Given the description of an element on the screen output the (x, y) to click on. 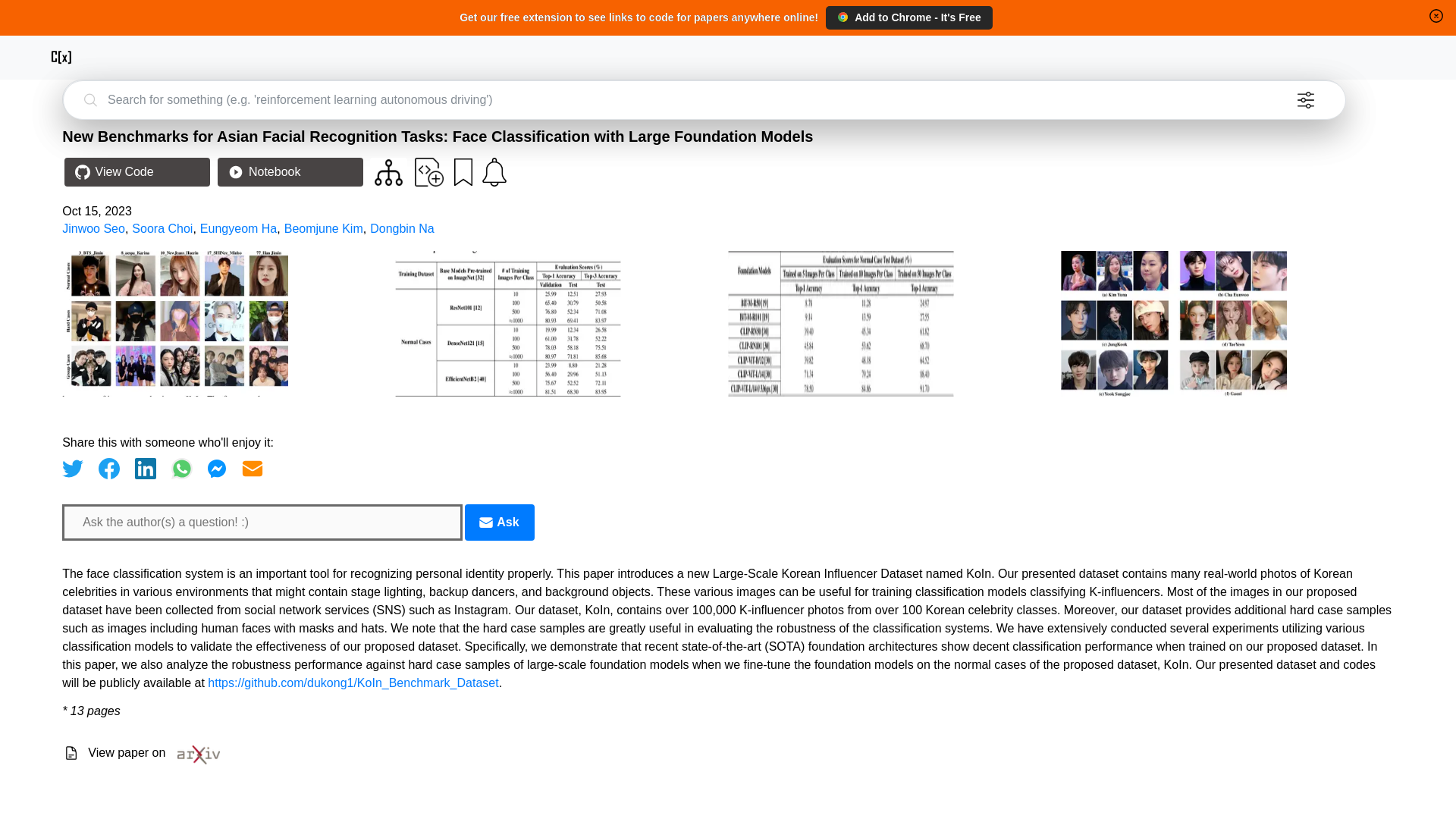
Share via Email (252, 468)
Notebook (289, 172)
Dongbin Na (401, 228)
Soora Choi (162, 228)
Jinwoo Seo (93, 228)
Email Icon (486, 522)
View code for similar papers (388, 171)
Contribute your code for this paper to the community (429, 172)
View Code (136, 172)
Beomjune Kim (322, 228)
